Given the description of an element on the screen output the (x, y) to click on. 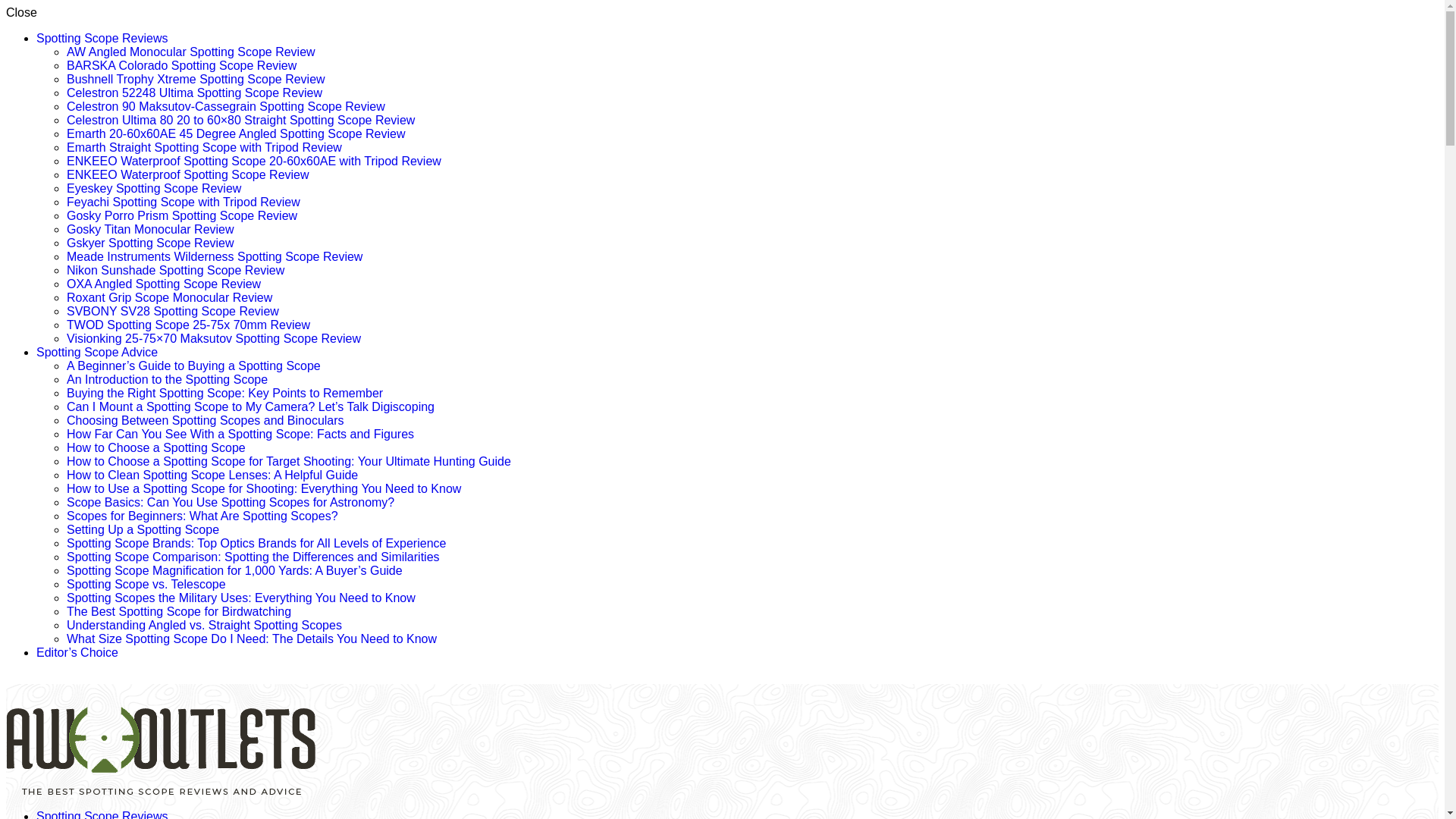
How Far Can You See With a Spotting Scope: Facts and Figures (239, 433)
Gskyer Spotting Scope Review (150, 242)
AW Angled Monocular Spotting Scope Review (190, 51)
Emarth Straight Spotting Scope with Tripod Review (204, 146)
Choosing Between Spotting Scopes and Binoculars (204, 420)
How to Choose a Spotting Scope (156, 447)
Eyeskey Spotting Scope Review (153, 187)
Scopes for Beginners: What Are Spotting Scopes? (201, 515)
